Given the description of an element on the screen output the (x, y) to click on. 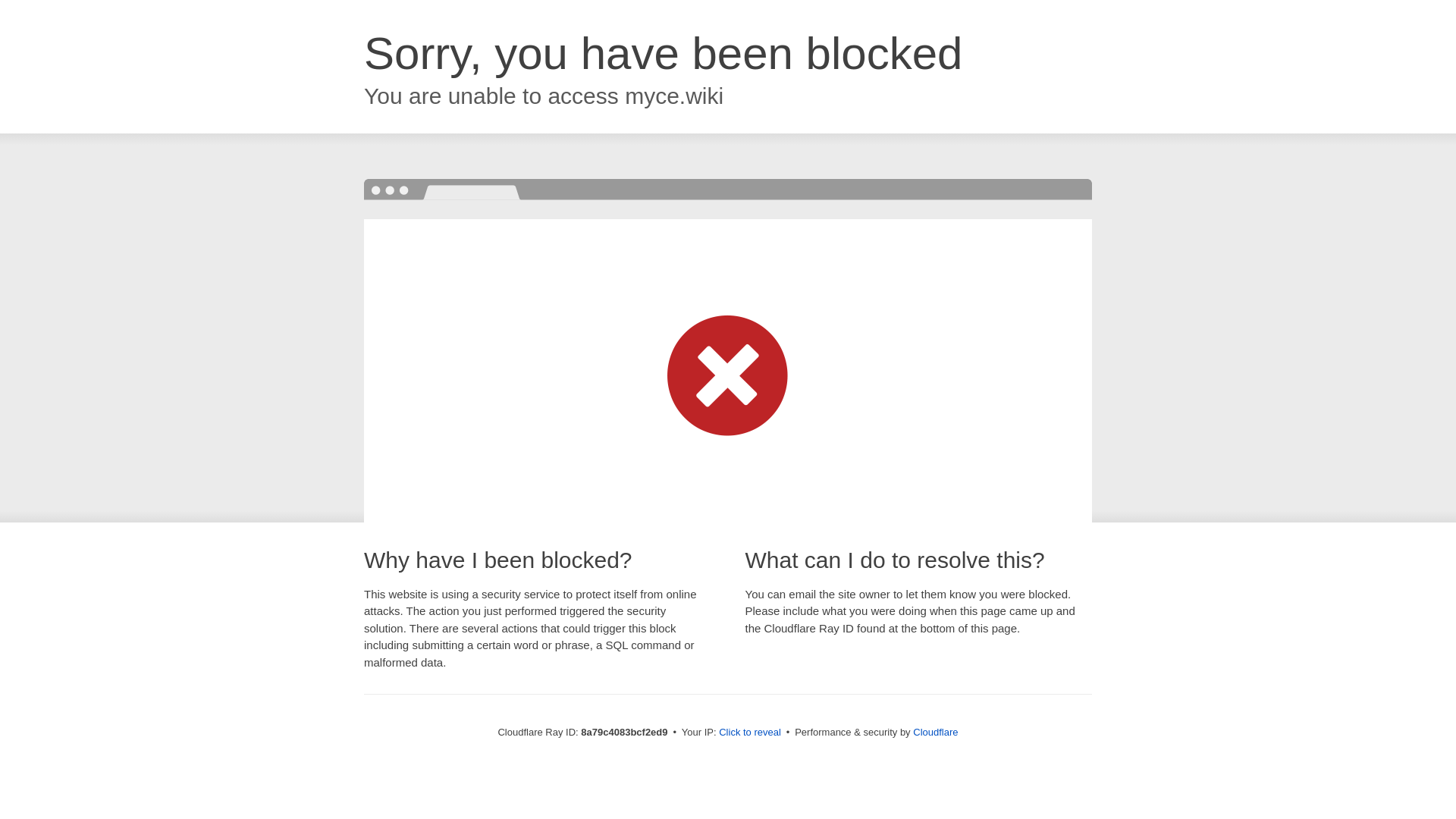
Click to reveal (749, 732)
Cloudflare (935, 731)
